Given the description of an element on the screen output the (x, y) to click on. 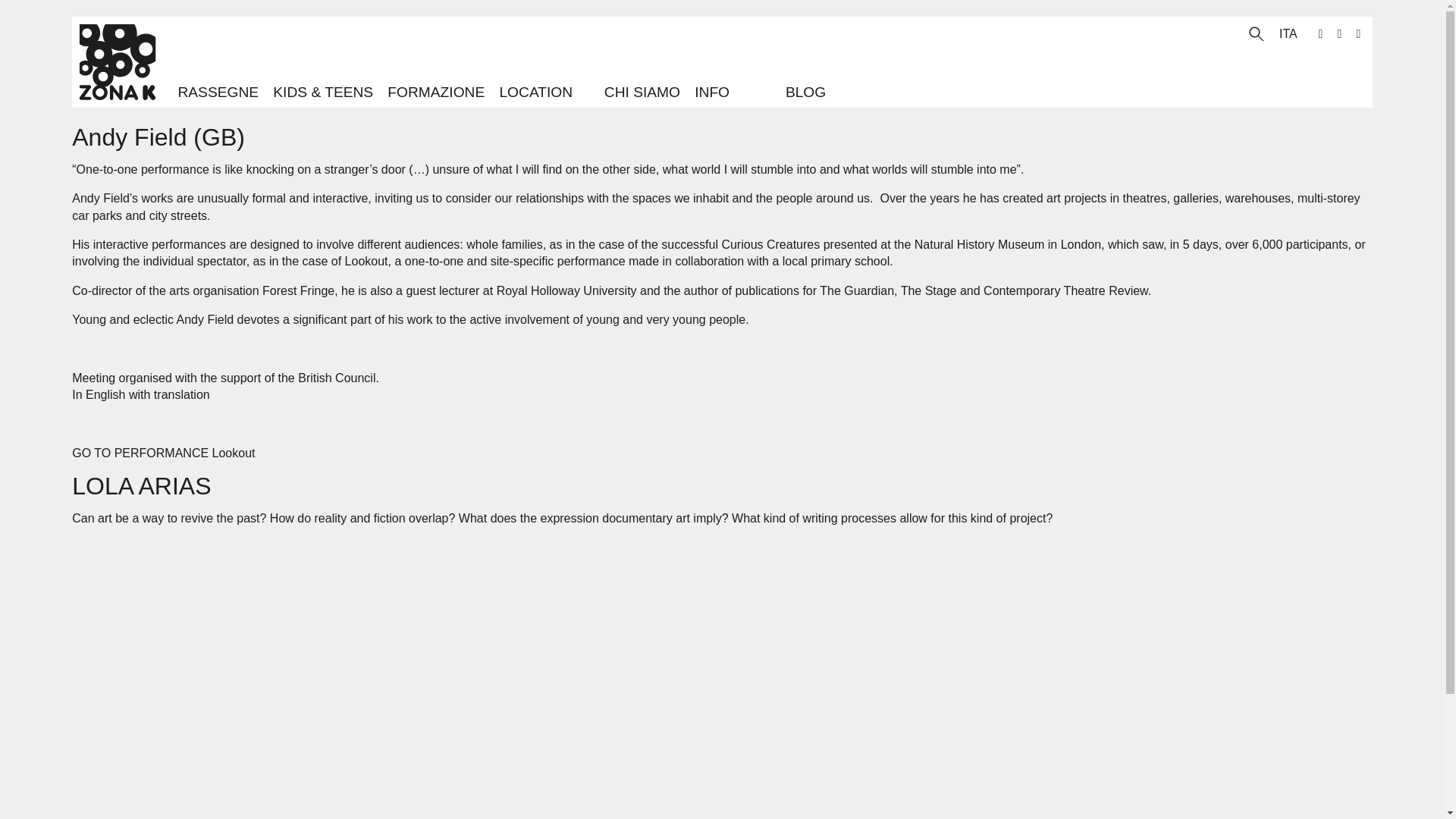
BLOG (805, 92)
GO TO PERFORMANCE Lookout (162, 452)
ZONA K (117, 61)
ZONA K (117, 61)
